Given the description of an element on the screen output the (x, y) to click on. 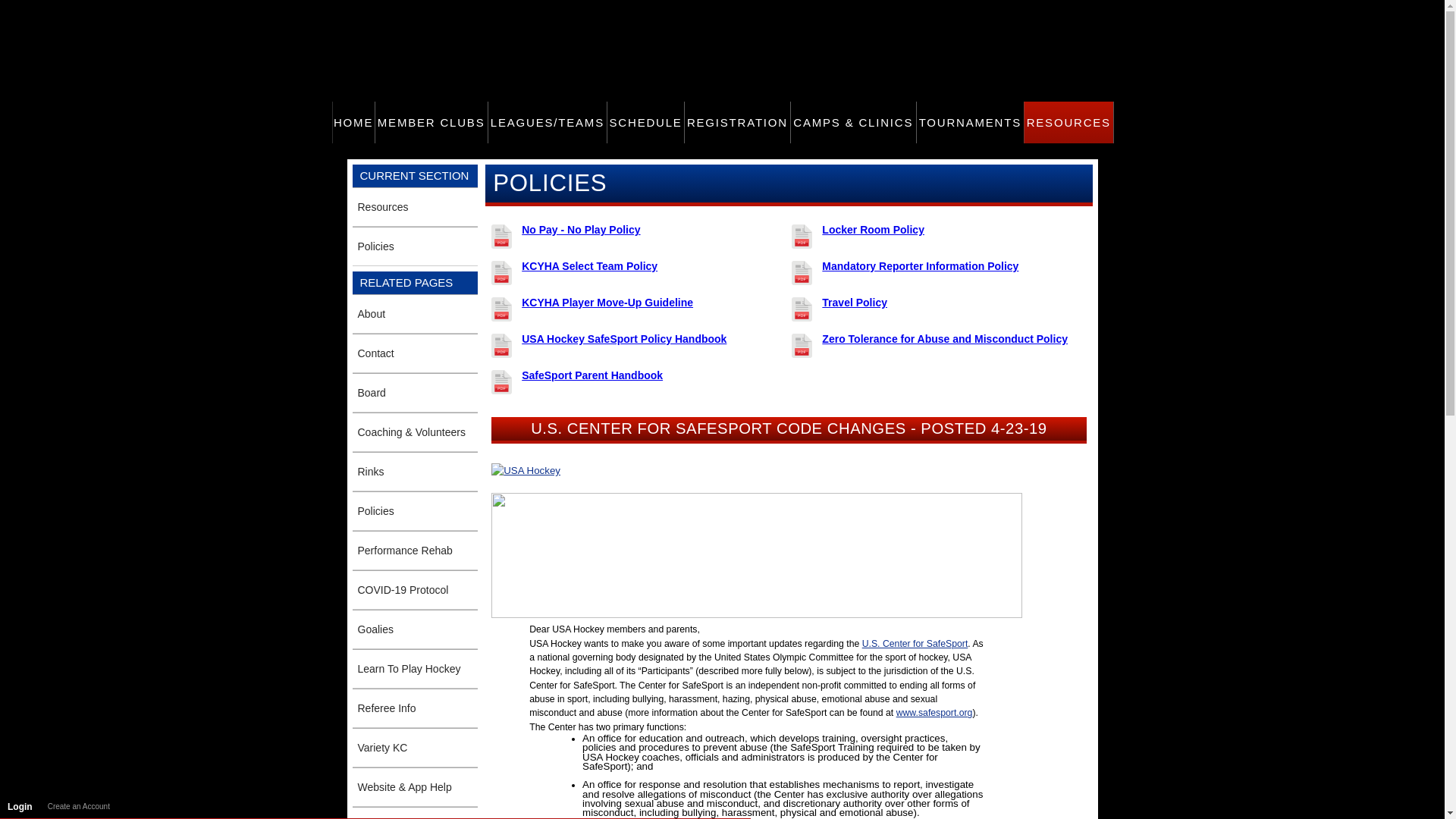
KC Saints (767, 22)
Carriage Club (725, 22)
KC Stars (810, 22)
KC Jets (1016, 22)
Carriage Club (725, 22)
Topeka RoadRunners (860, 22)
click to go to 'Member Clubs' (430, 122)
KC Storm (964, 22)
St. Joe Griffins (682, 22)
KC Jr. Mavs (912, 22)
KC Saints (767, 22)
click to go to 'Home' (353, 122)
KC Storm (964, 22)
Create an Account (78, 806)
Create an Account (78, 806)
